Given the description of an element on the screen output the (x, y) to click on. 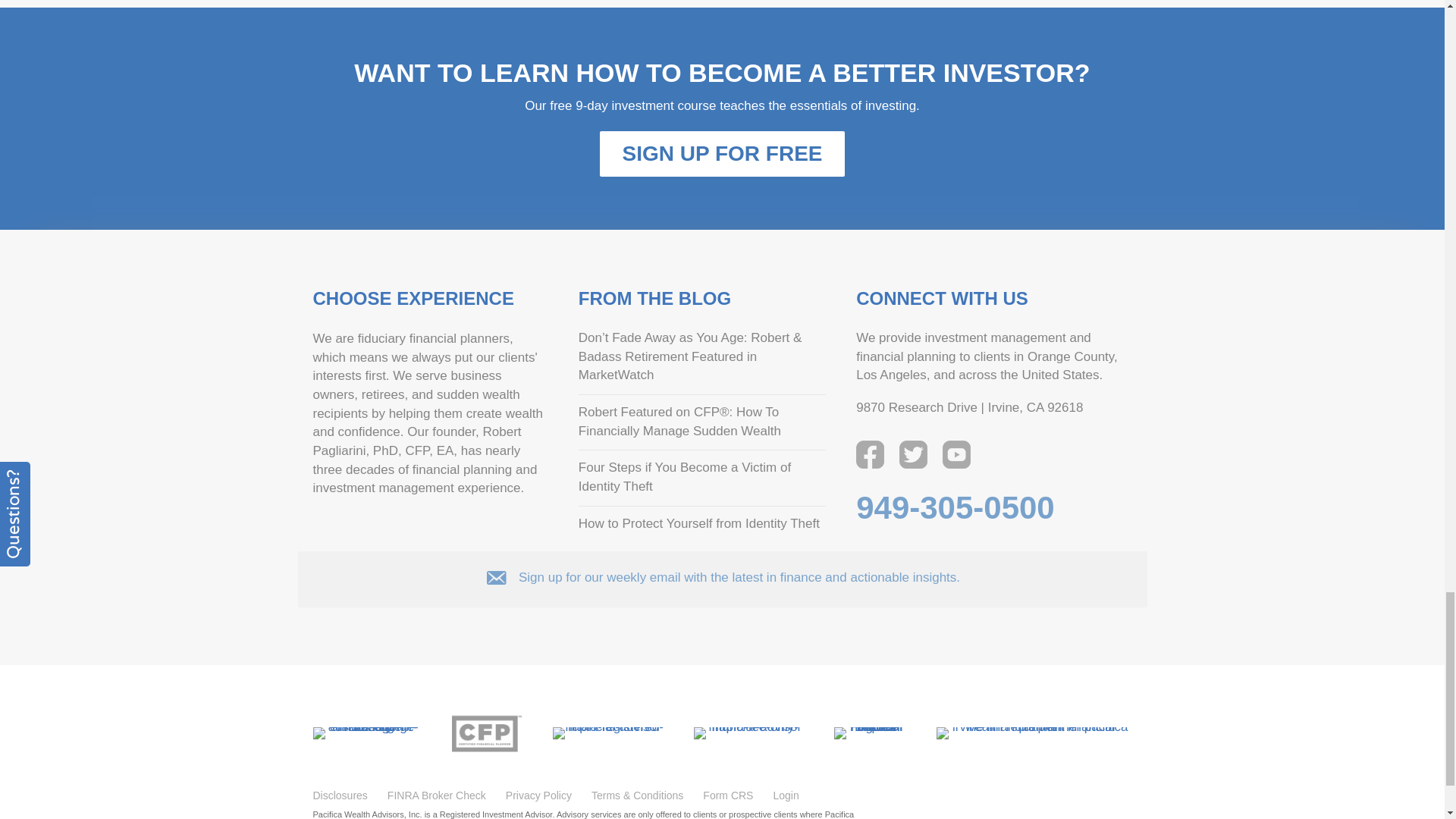
napfa-fee-only-financial-advisor (748, 733)
forbes-financial-writer-author (869, 733)
How to Protect Yourself from Identity Theft (698, 523)
Four Steps if You Become a Victim of Identity Theft (684, 476)
napfa-registered-financial-advisor (607, 733)
certified-financial-planner-robert-pagliarini (486, 732)
enrolled-agent-irs-tax-agent-financial-advisor-orange-county (366, 733)
